Given the description of an element on the screen output the (x, y) to click on. 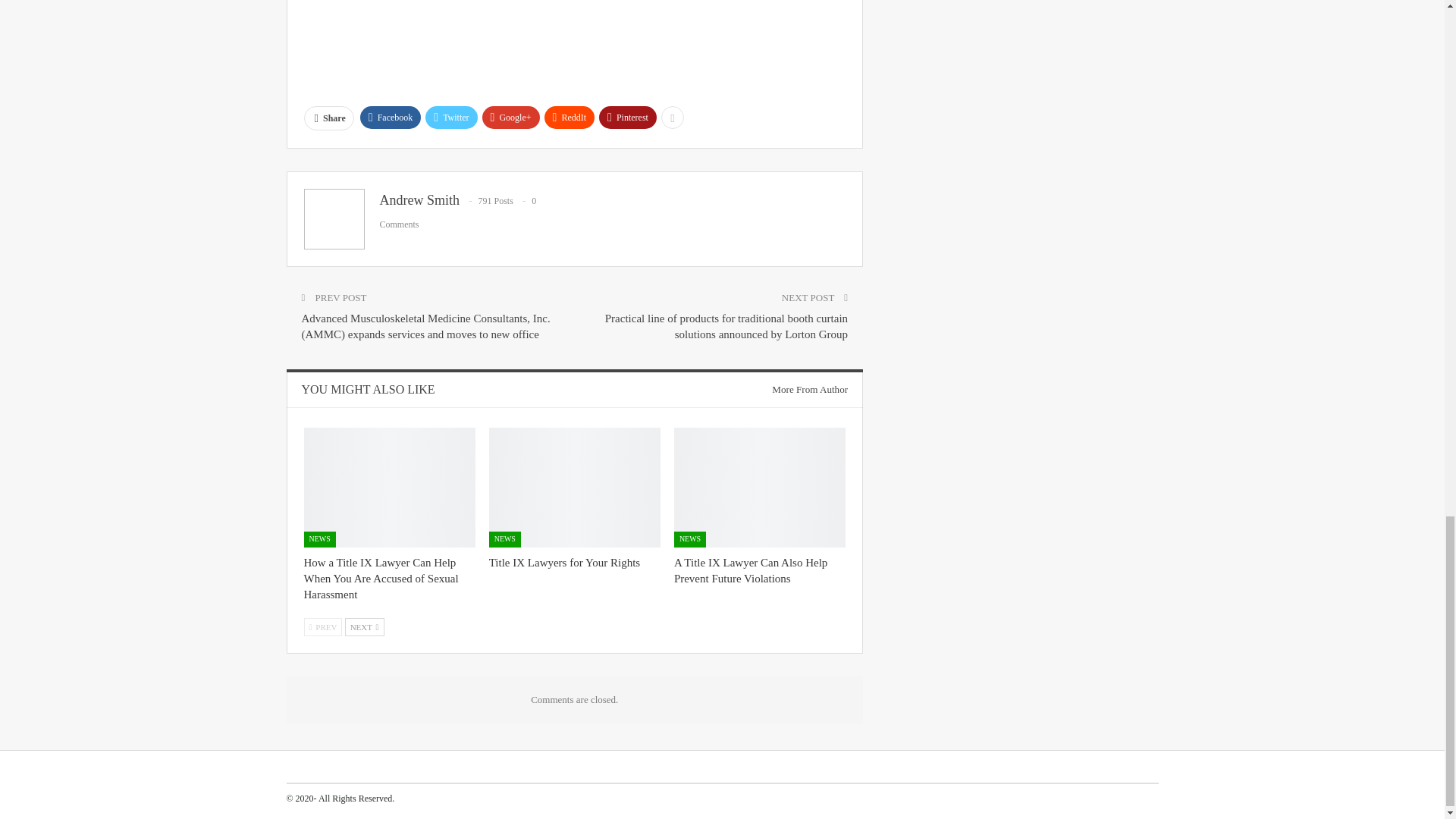
Previous (322, 627)
Twitter (451, 117)
Facebook (390, 117)
Title IX Lawyers for Your Rights (575, 487)
Next (364, 627)
Title IX Lawyers for Your Rights (564, 562)
A Title IX Lawyer Can Also Help Prevent Future Violations (751, 570)
A Title IX Lawyer Can Also Help Prevent Future Violations (759, 487)
